Given the description of an element on the screen output the (x, y) to click on. 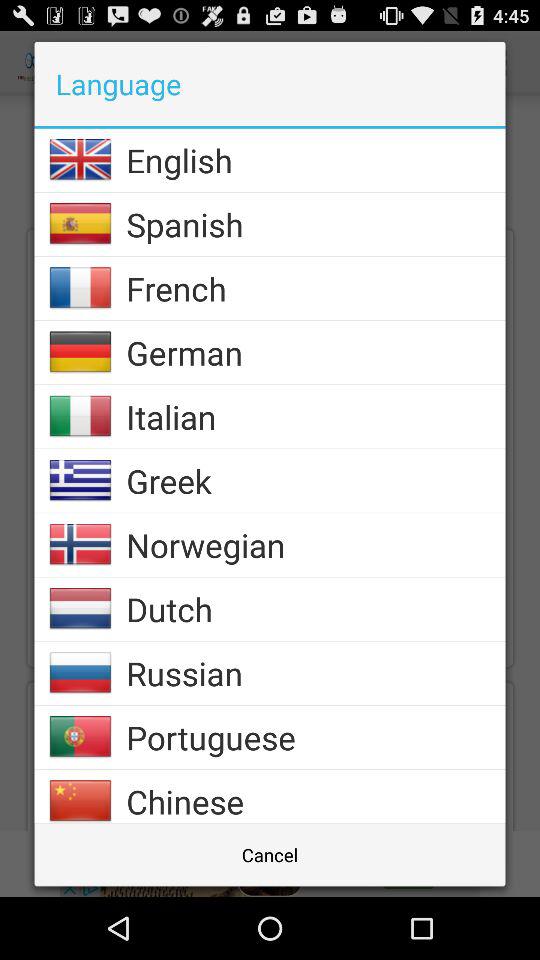
open the icon above the german icon (315, 288)
